Given the description of an element on the screen output the (x, y) to click on. 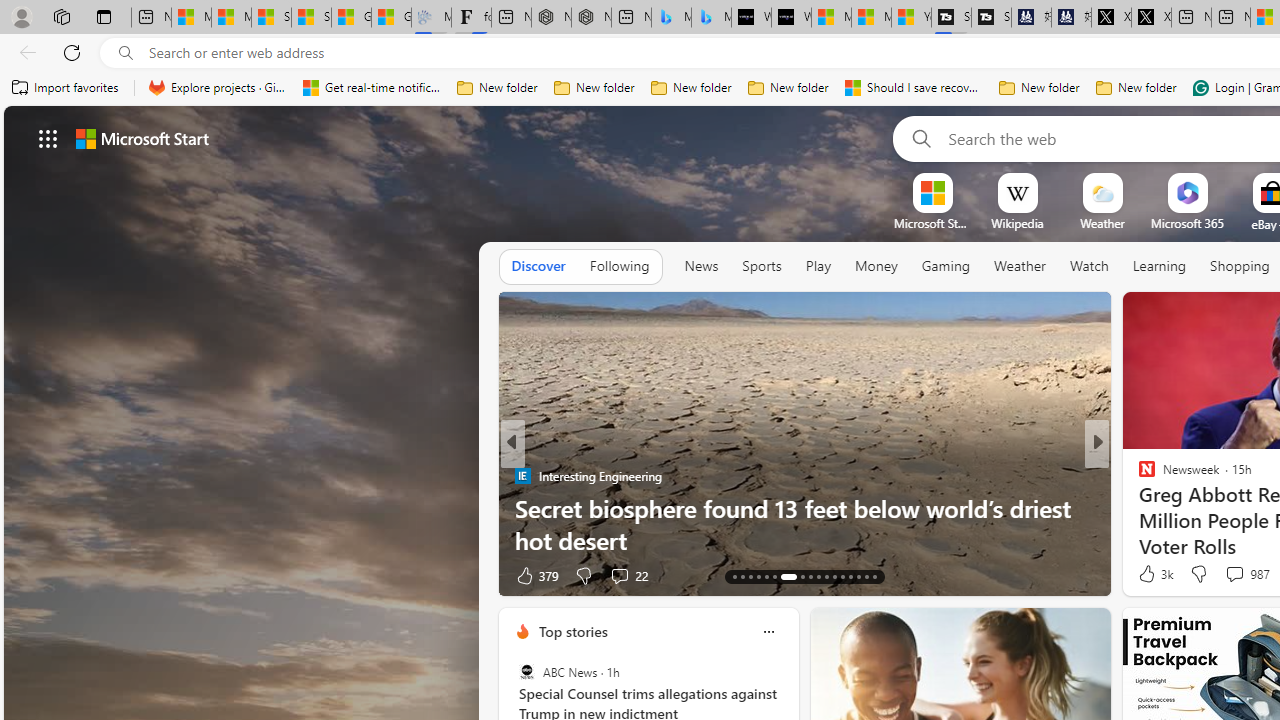
View comments 52 Comment (1229, 575)
View comments 251 Comment (11, 575)
AutomationID: tab-28 (865, 576)
432 Like (1151, 574)
View comments 18 Comment (1234, 575)
Should I save recovered Word documents? - Microsoft Support (913, 88)
This story is trending (449, 579)
AutomationID: tab-21 (810, 576)
FOX News (1138, 475)
14 Like (1149, 574)
